Given the description of an element on the screen output the (x, y) to click on. 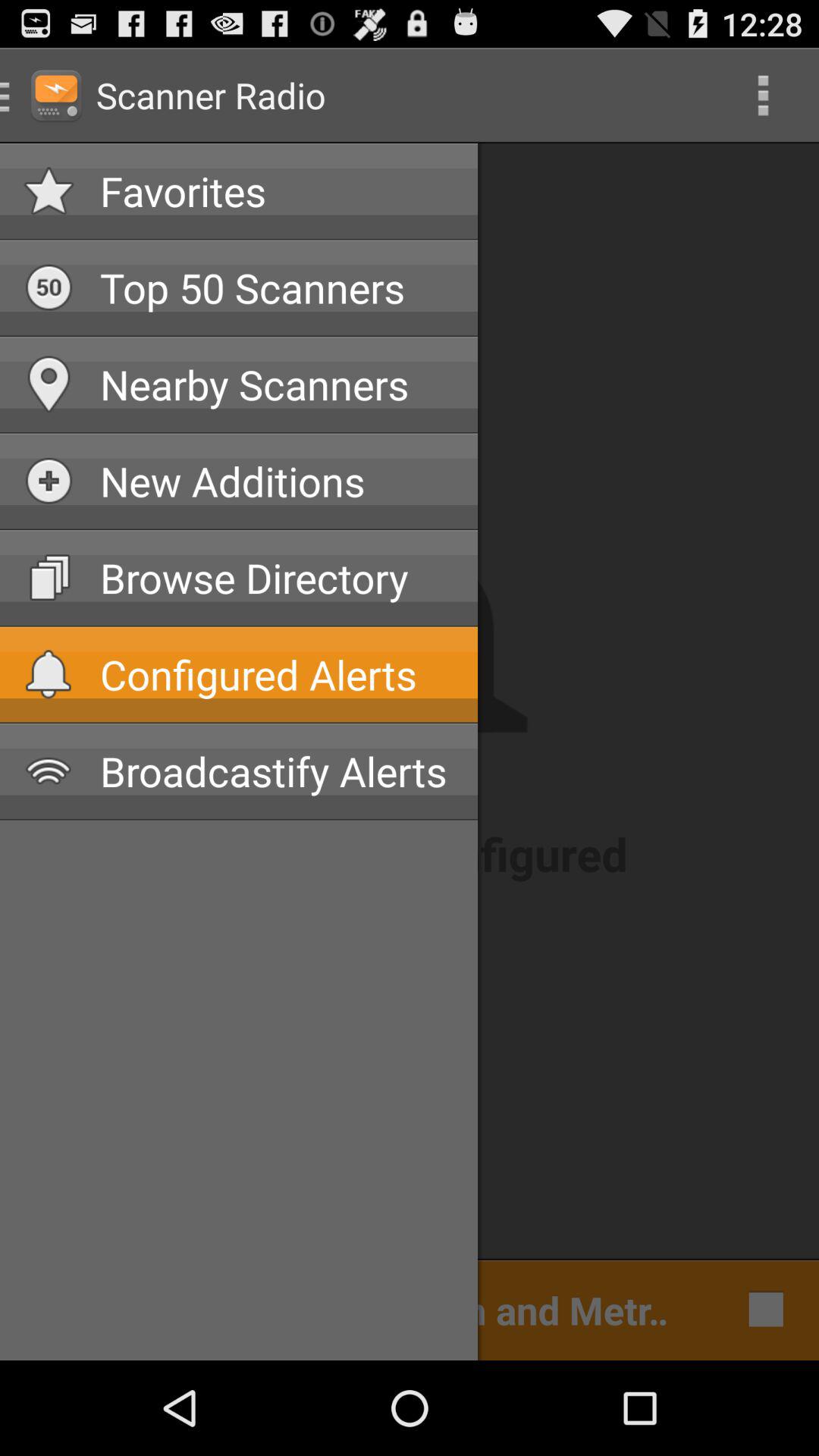
tap the icon next to favorites icon (763, 95)
